Given the description of an element on the screen output the (x, y) to click on. 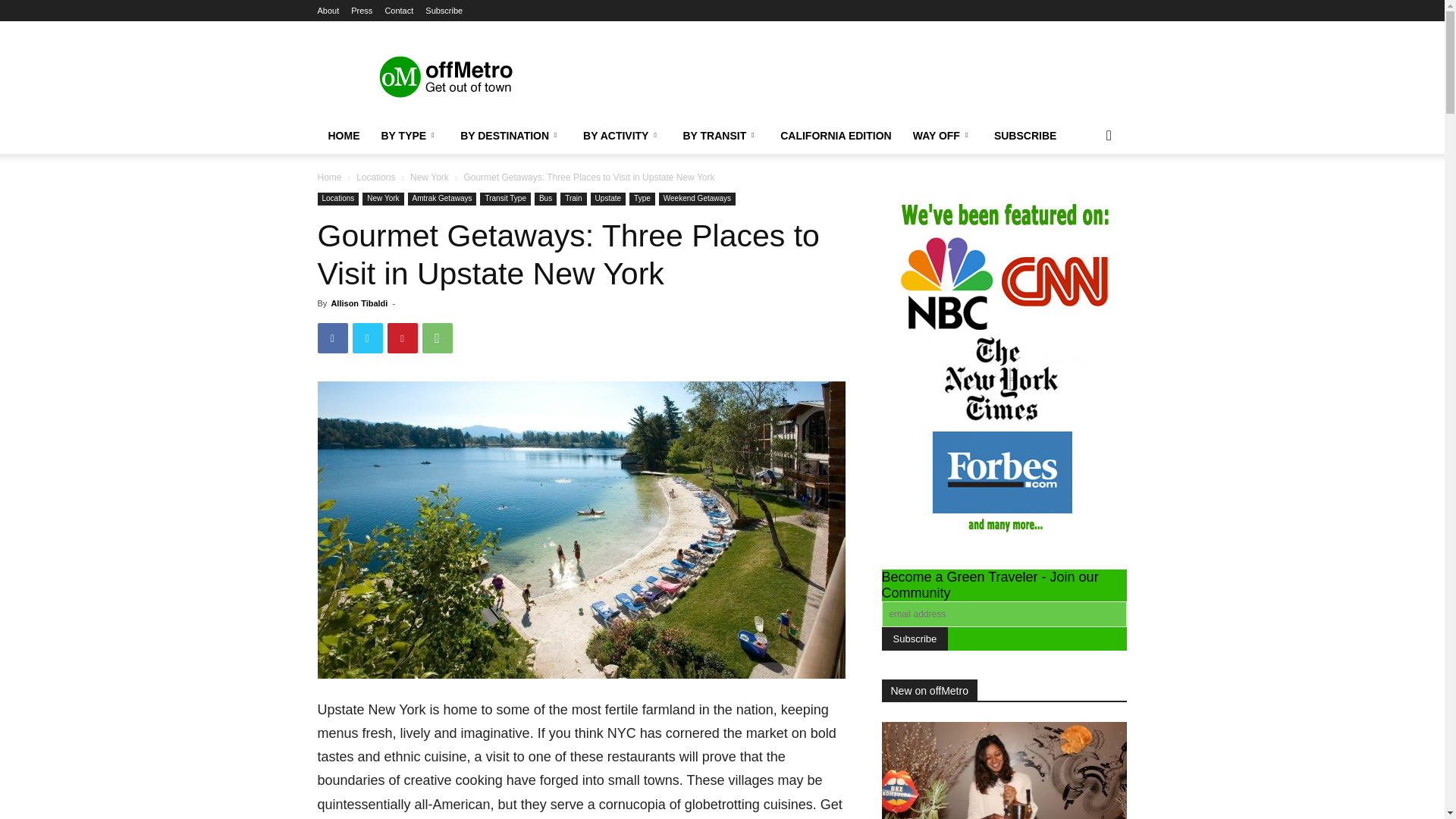
View all posts in Locations (375, 176)
Contact (398, 10)
About (328, 10)
Pinterest (401, 337)
Press (361, 10)
View all posts in New York (429, 176)
Facebook (332, 337)
Subscribe (913, 638)
WhatsApp (436, 337)
Subscribe (444, 10)
Twitter (366, 337)
